Given the description of an element on the screen output the (x, y) to click on. 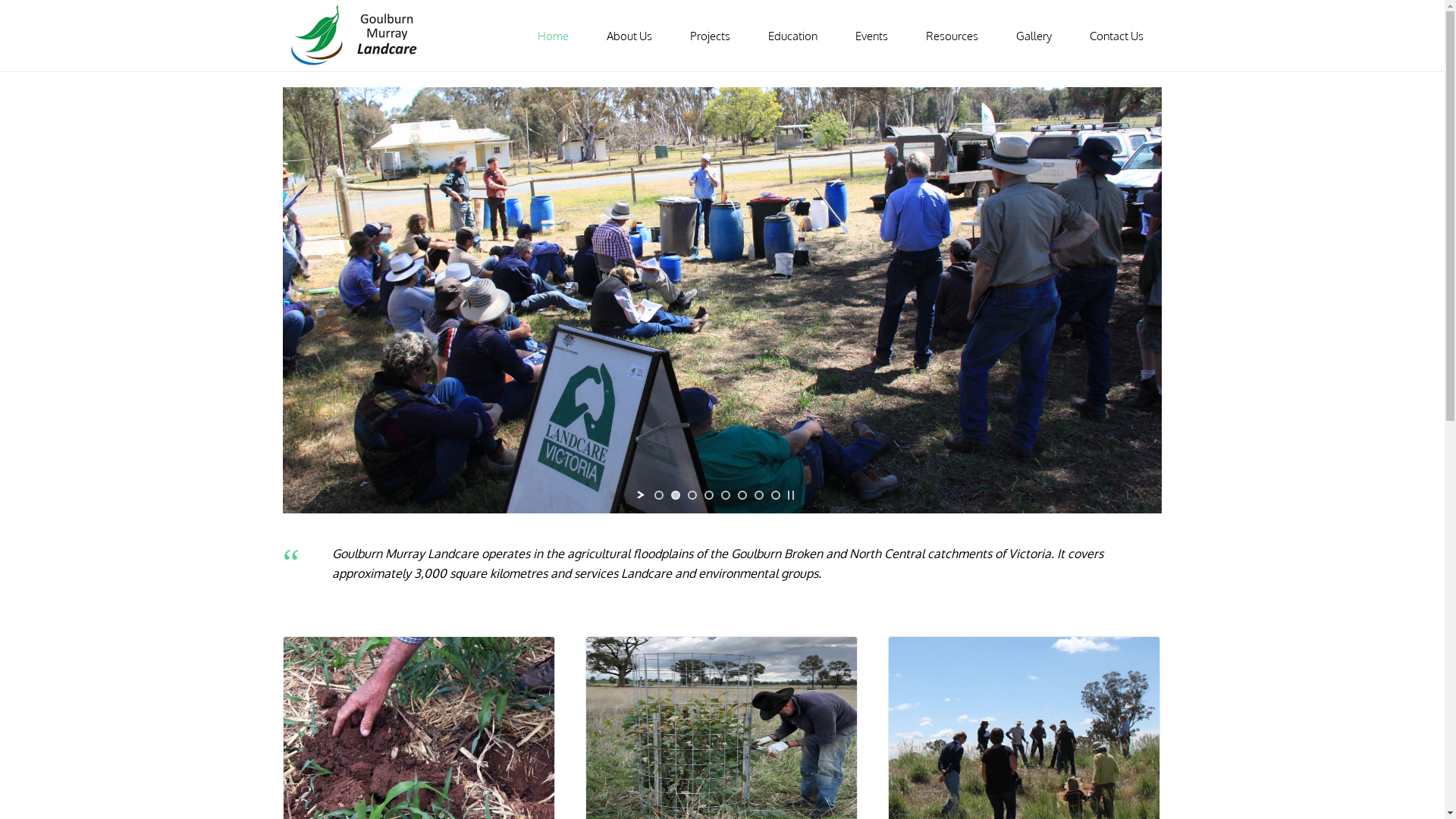
Events Element type: text (870, 36)
Projects Element type: text (709, 36)
Contact Us Element type: text (1116, 36)
Gallery Element type: text (1033, 36)
Home Element type: text (552, 36)
Education Element type: text (792, 36)
Resources Element type: text (951, 36)
About Us Element type: text (628, 36)
